Given the description of an element on the screen output the (x, y) to click on. 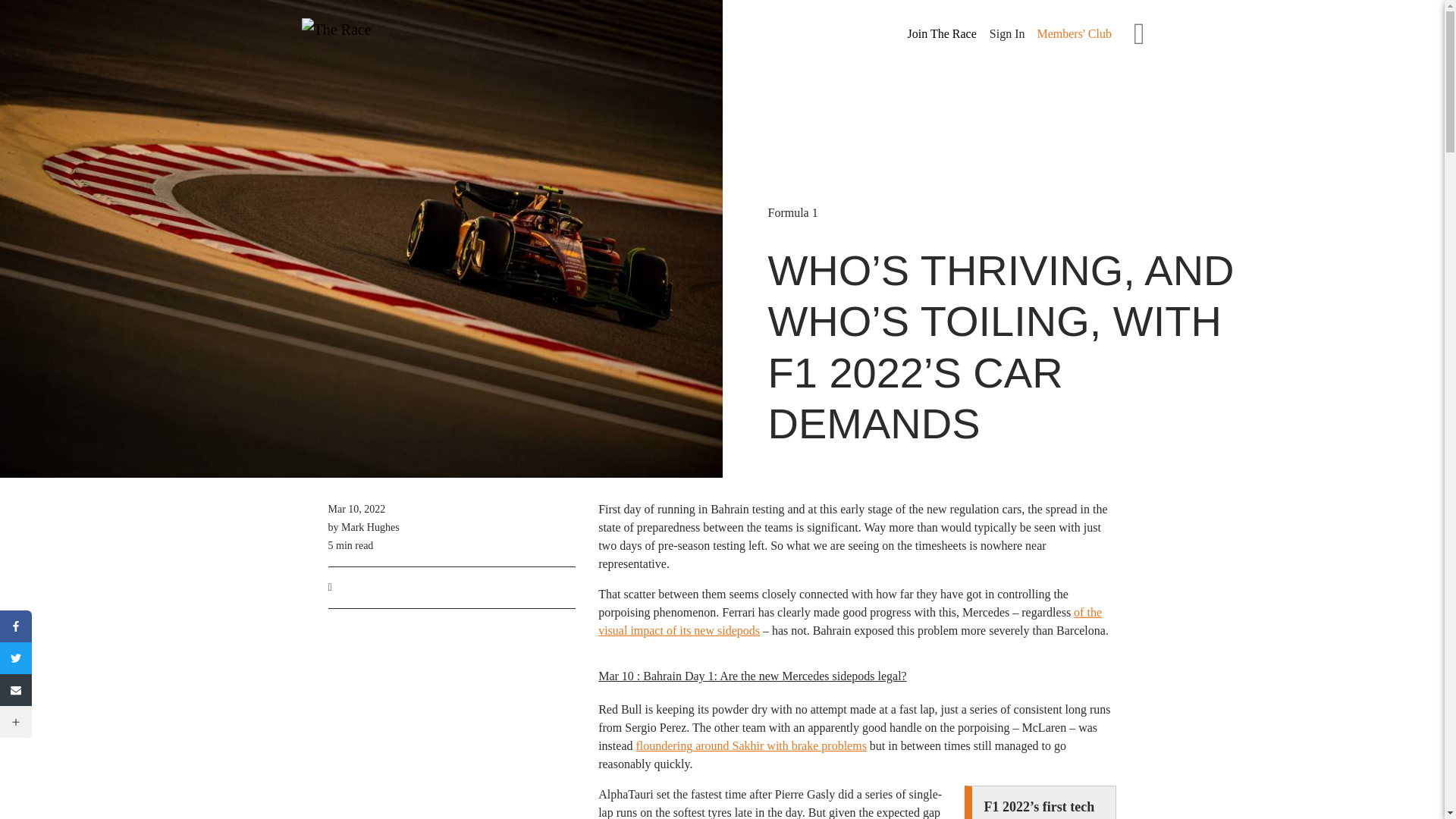
Join The Race (941, 34)
Sign In (1007, 33)
Mar 10 : Bahrain Day 1: Are the new Mercedes sidepods legal? (752, 675)
of the visual impact of its new sidepods (850, 621)
floundering around Sakhir with brake problems (750, 745)
Members' Club (1073, 33)
